Given the description of an element on the screen output the (x, y) to click on. 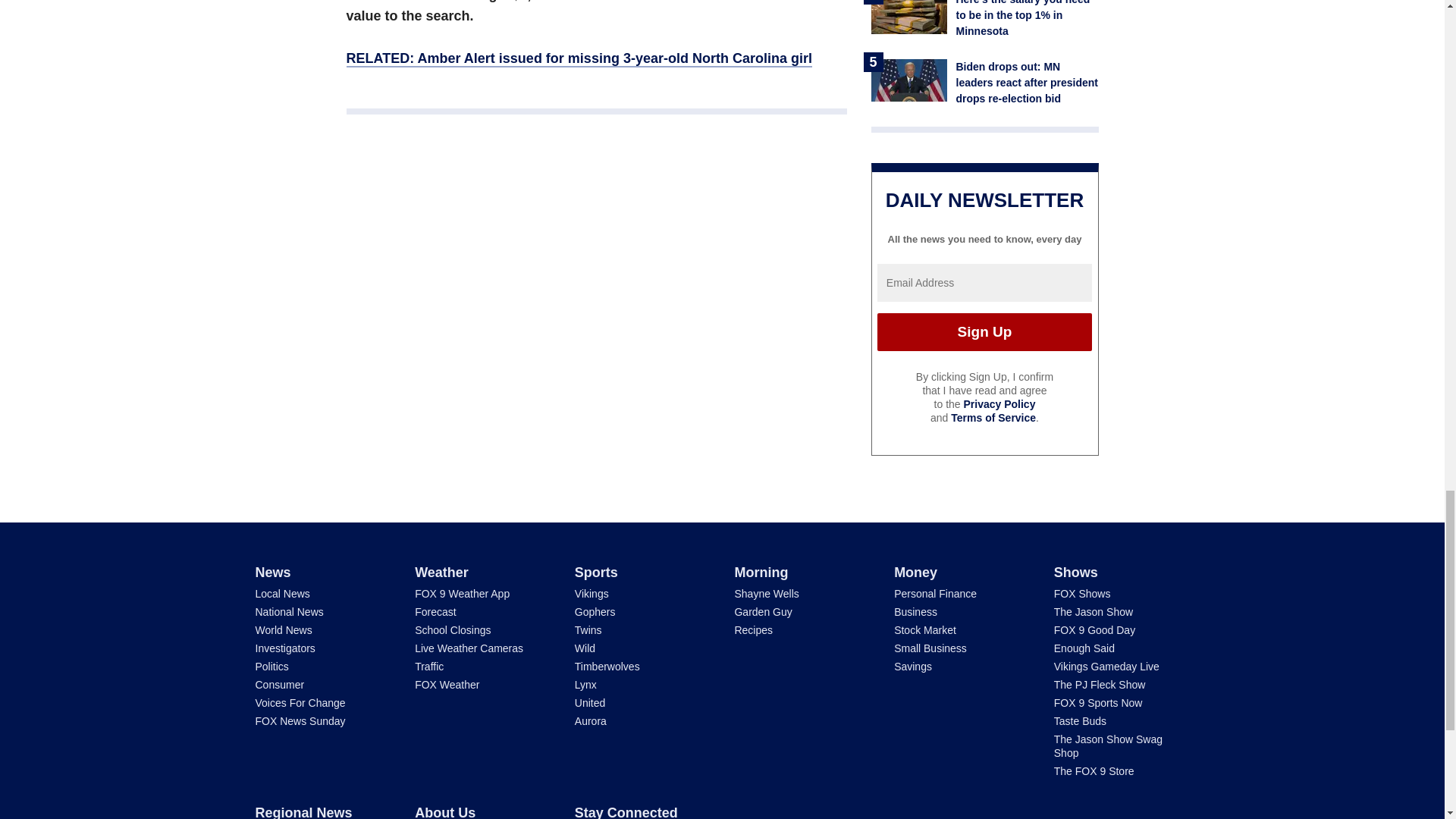
Sign Up (984, 331)
